Given the description of an element on the screen output the (x, y) to click on. 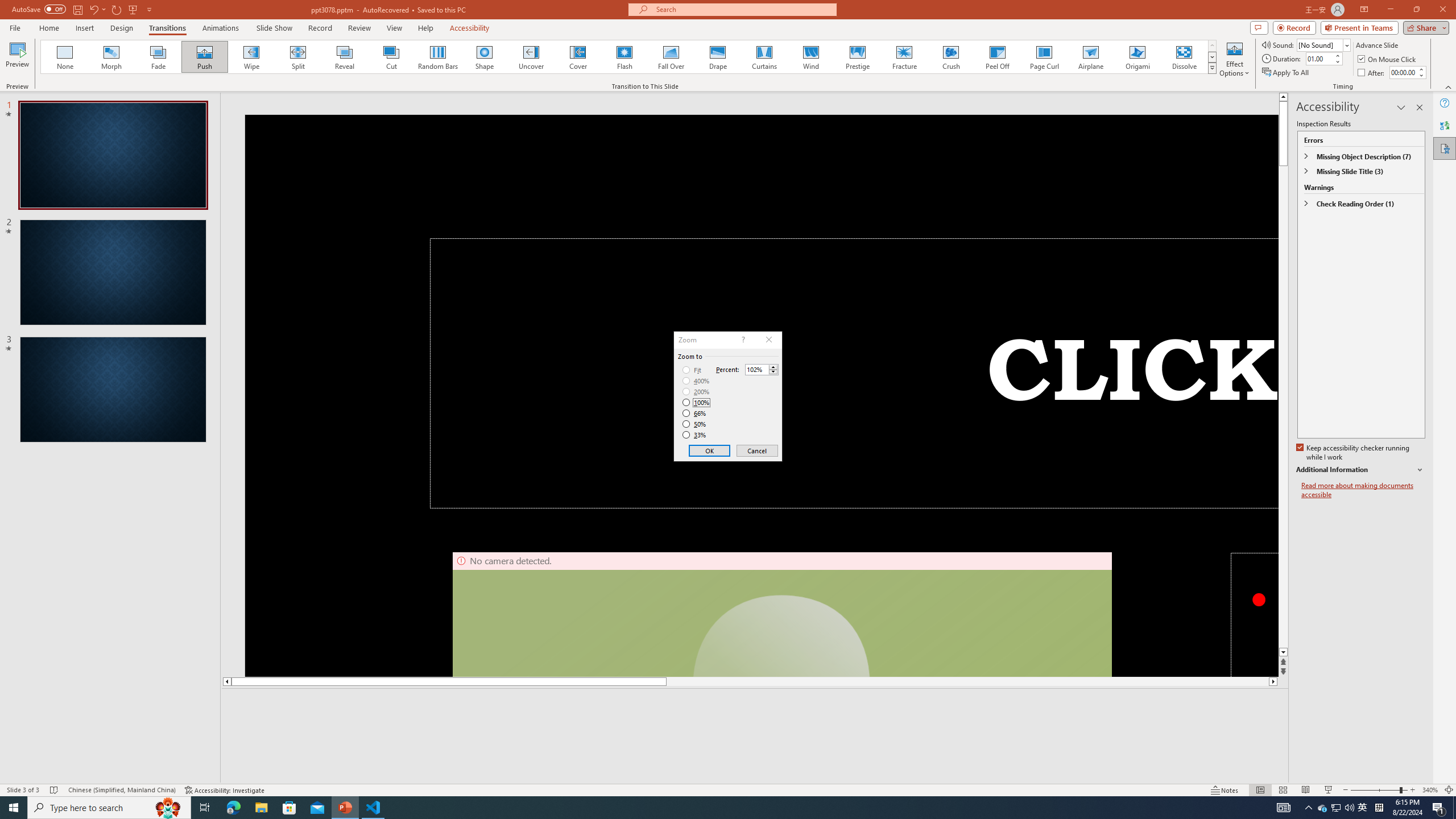
Cut (391, 56)
Split (298, 56)
Q2790: 100% (1349, 807)
Microsoft Edge (233, 807)
Wipe (1322, 807)
Airplane (251, 56)
Dissolve (1090, 56)
Wind (1183, 56)
Random Bars (810, 56)
